Given the description of an element on the screen output the (x, y) to click on. 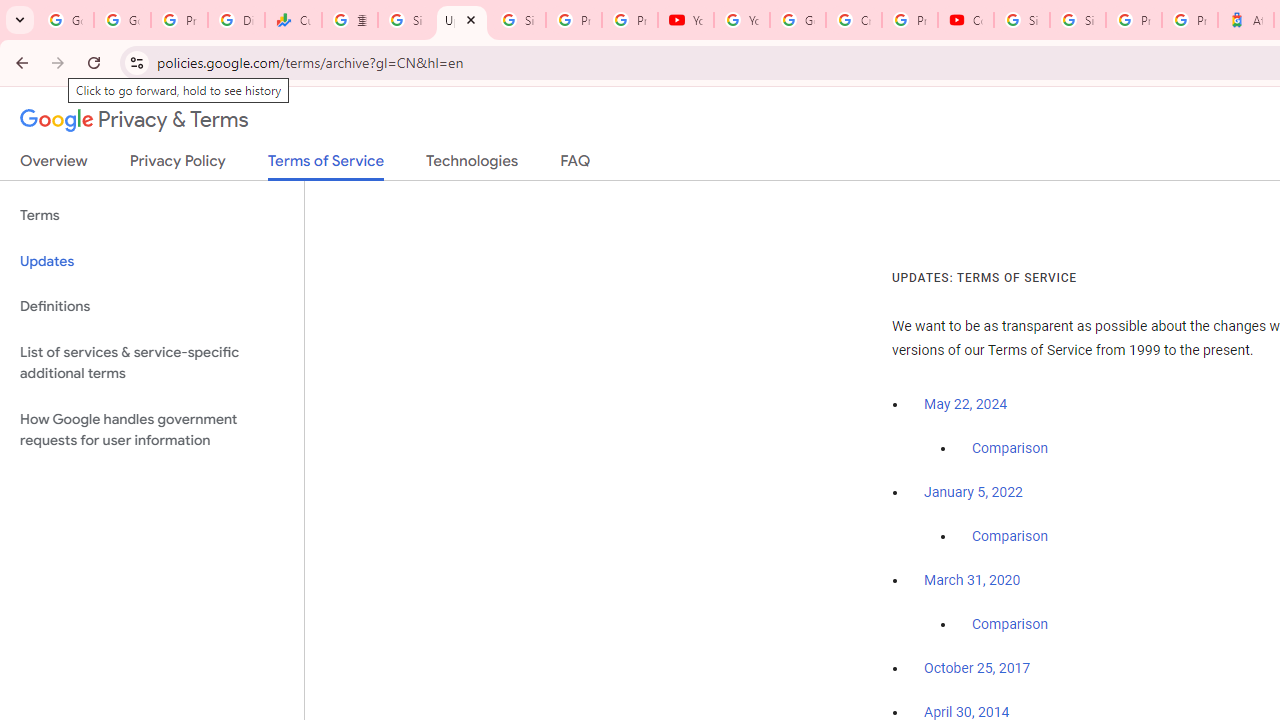
Comparison (1009, 625)
March 31, 2020 (972, 580)
How Google handles government requests for user information (152, 429)
May 22, 2024 (966, 404)
Currencies - Google Finance (293, 20)
YouTube (742, 20)
